Given the description of an element on the screen output the (x, y) to click on. 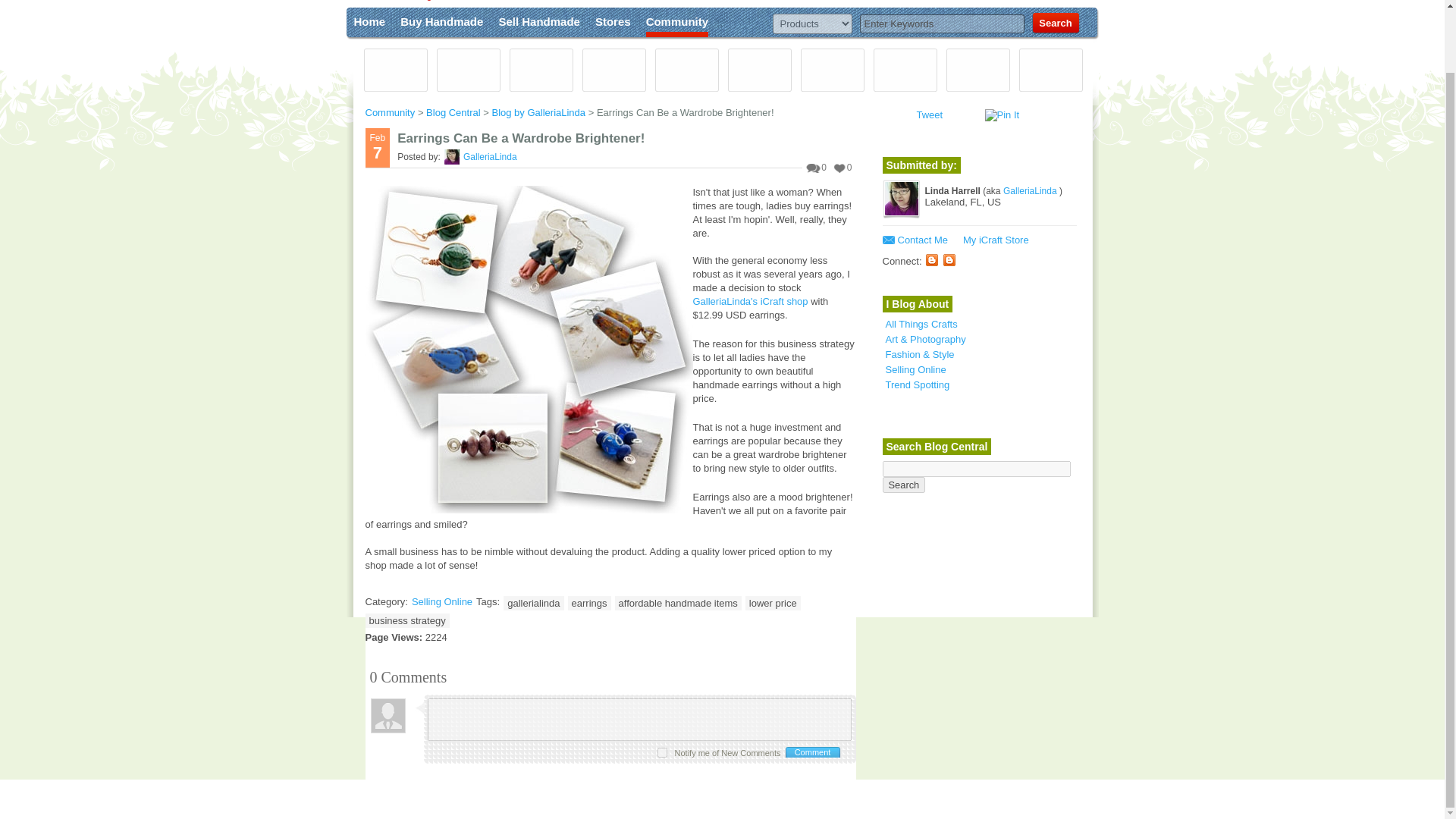
GalleriaLinda (489, 156)
Comment (812, 751)
0 (842, 167)
GalleriaLinda's iCraft shop (750, 301)
0 (816, 167)
Enter Keywords (942, 22)
Search (1054, 23)
Blog by GalleriaLinda (540, 112)
Community (391, 112)
